Given the description of an element on the screen output the (x, y) to click on. 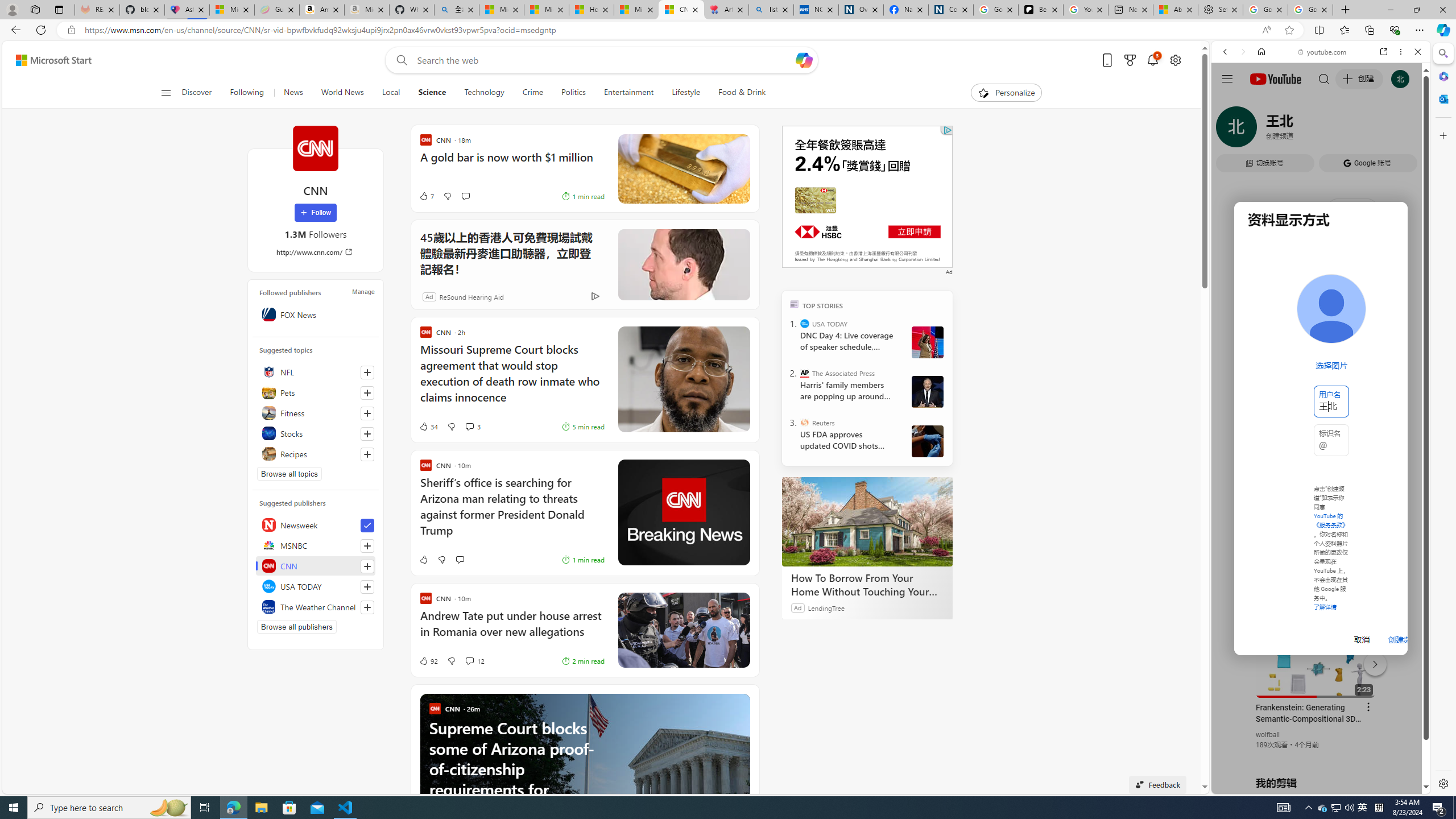
YouTube - YouTube (1315, 560)
wolfball (1268, 734)
Class: dict_pnIcon rms_img (1312, 784)
Cookies (950, 9)
Browse all topics (289, 473)
Search Filter, Search Tools (1350, 129)
Actions for this site (1371, 661)
Search Filter, IMAGES (1262, 129)
